Given the description of an element on the screen output the (x, y) to click on. 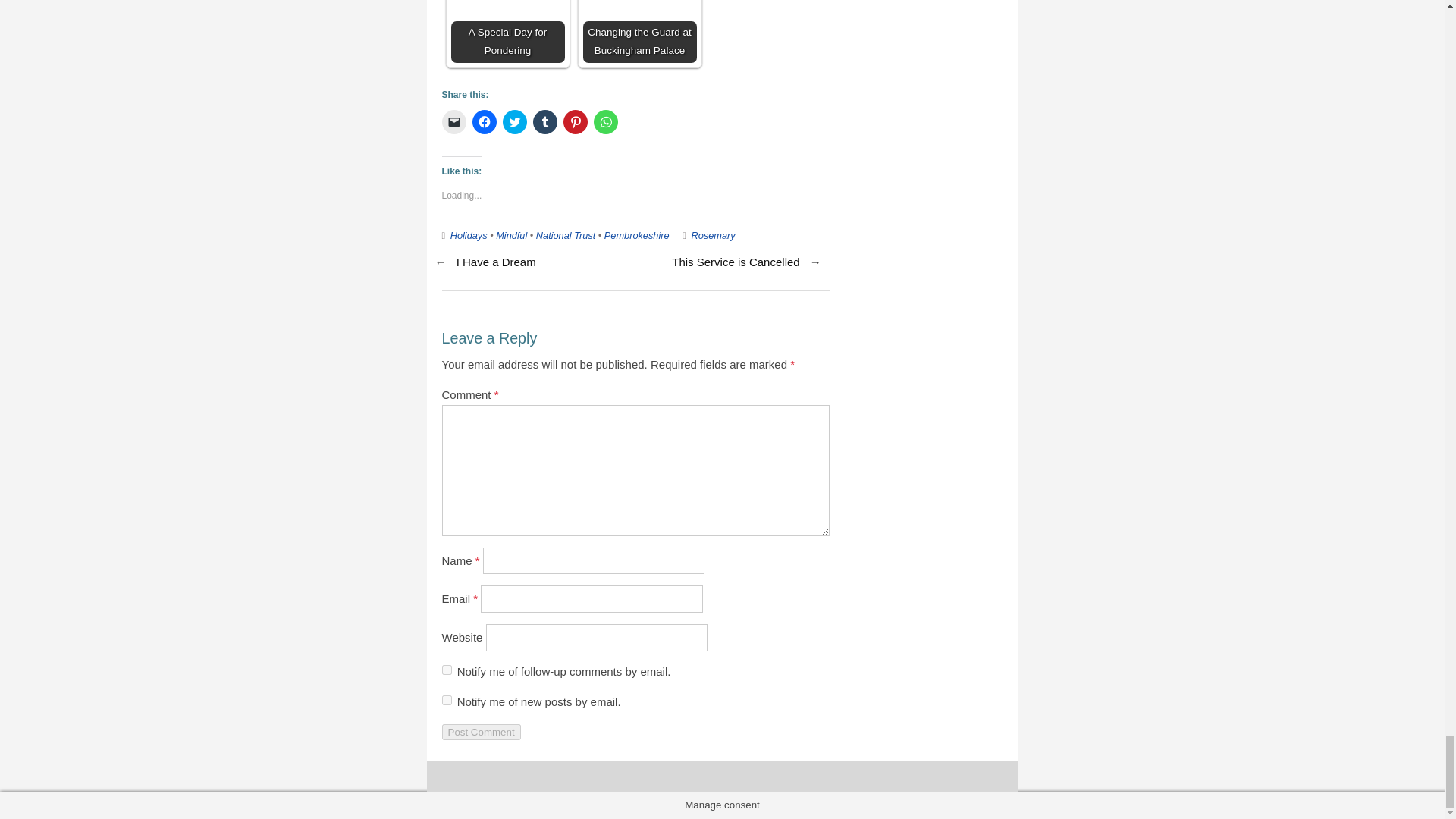
National Trust (565, 235)
Click to email a link to a friend (453, 121)
Changing the Guard at Buckingham Palace (638, 31)
I Have a Dream (496, 261)
Holidays (468, 235)
Pembrokeshire (636, 235)
Post Comment (480, 731)
Post Comment (480, 731)
A Special Day for Pondering (506, 31)
subscribe (446, 700)
